Given the description of an element on the screen output the (x, y) to click on. 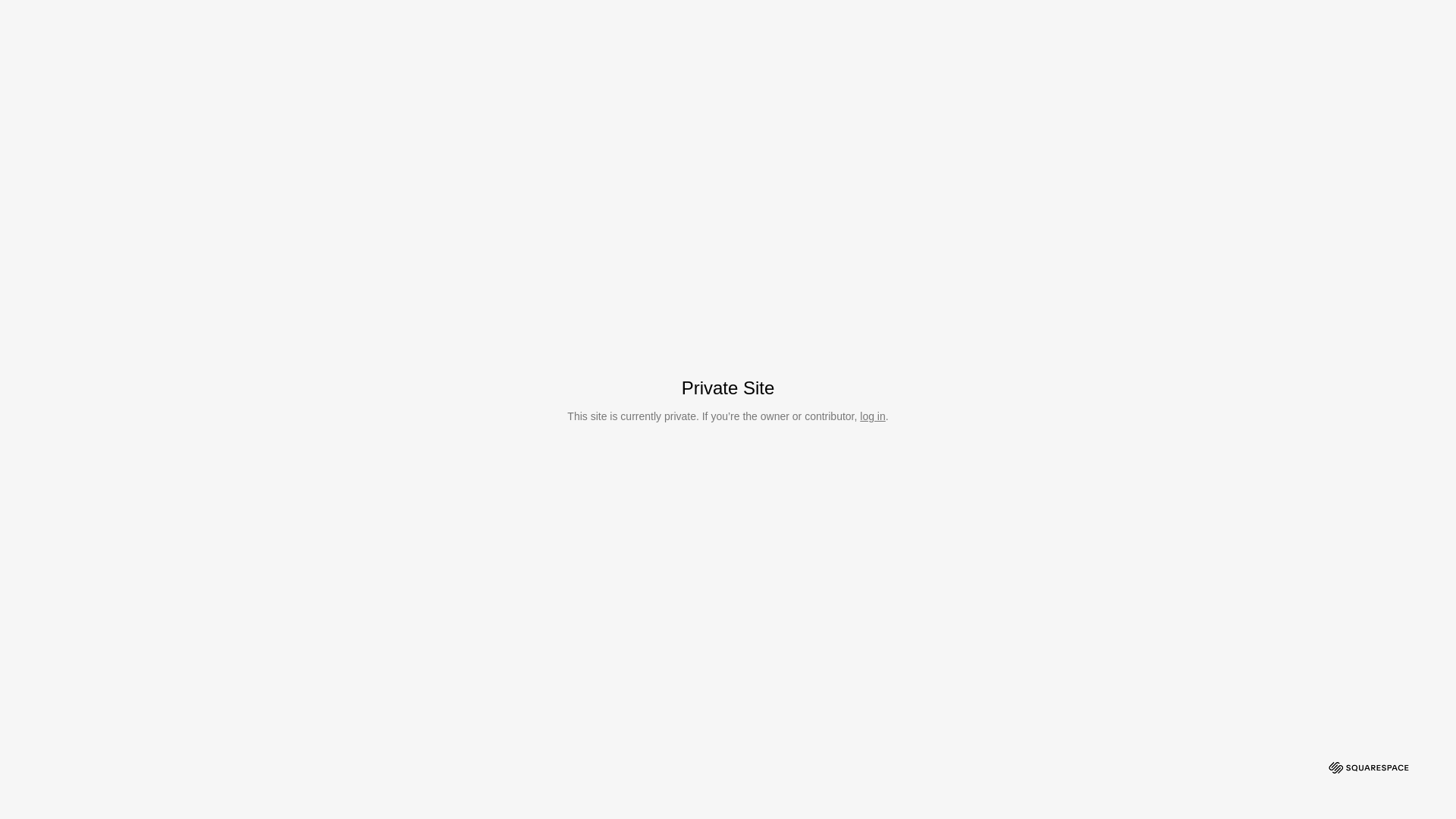
log in Element type: text (871, 416)
